Given the description of an element on the screen output the (x, y) to click on. 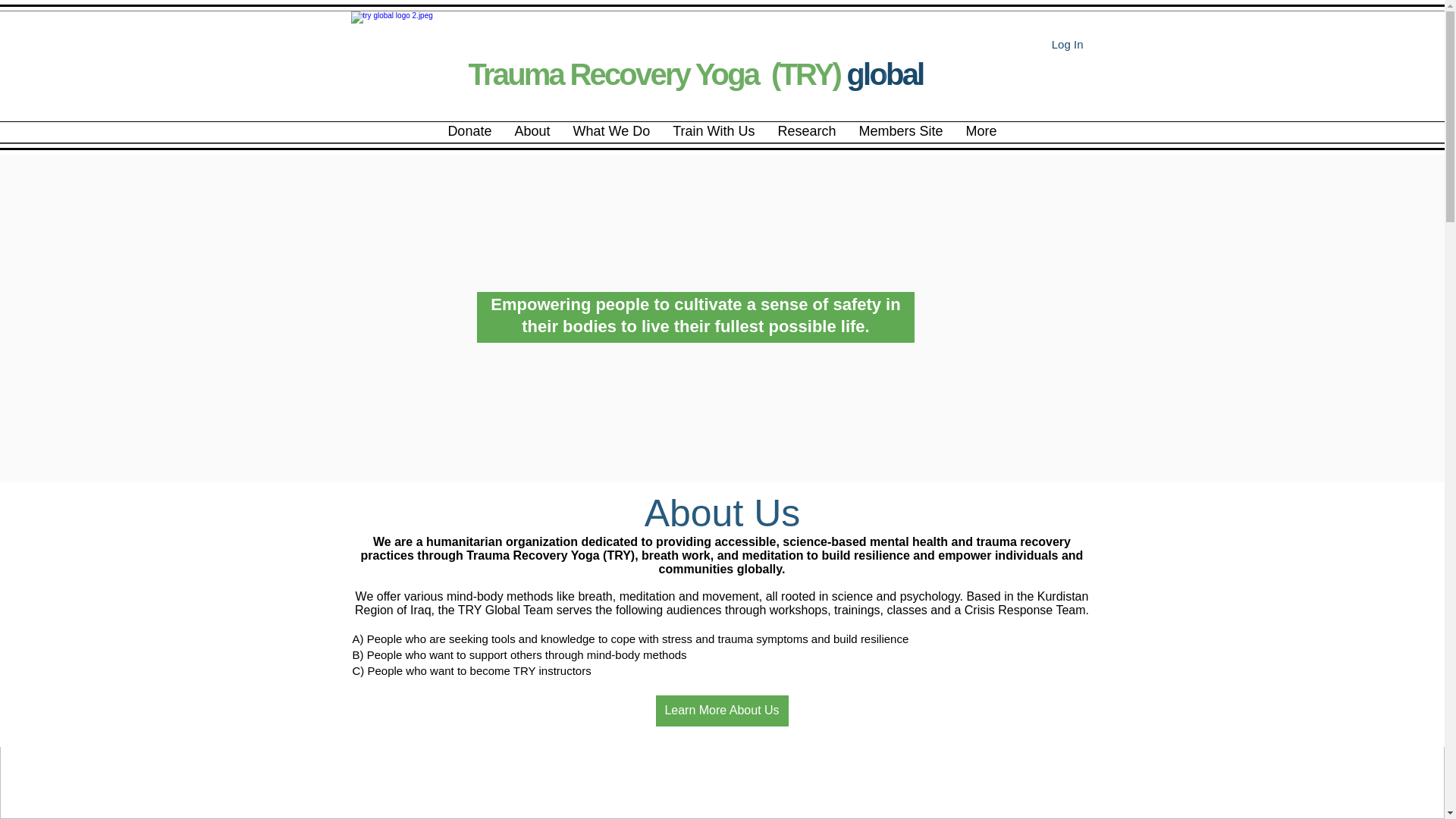
Log In (1067, 43)
Donate (468, 132)
Learn More About Us (721, 710)
Train With Us (713, 132)
Members Site (901, 132)
bal (904, 73)
About (531, 132)
